Given the description of an element on the screen output the (x, y) to click on. 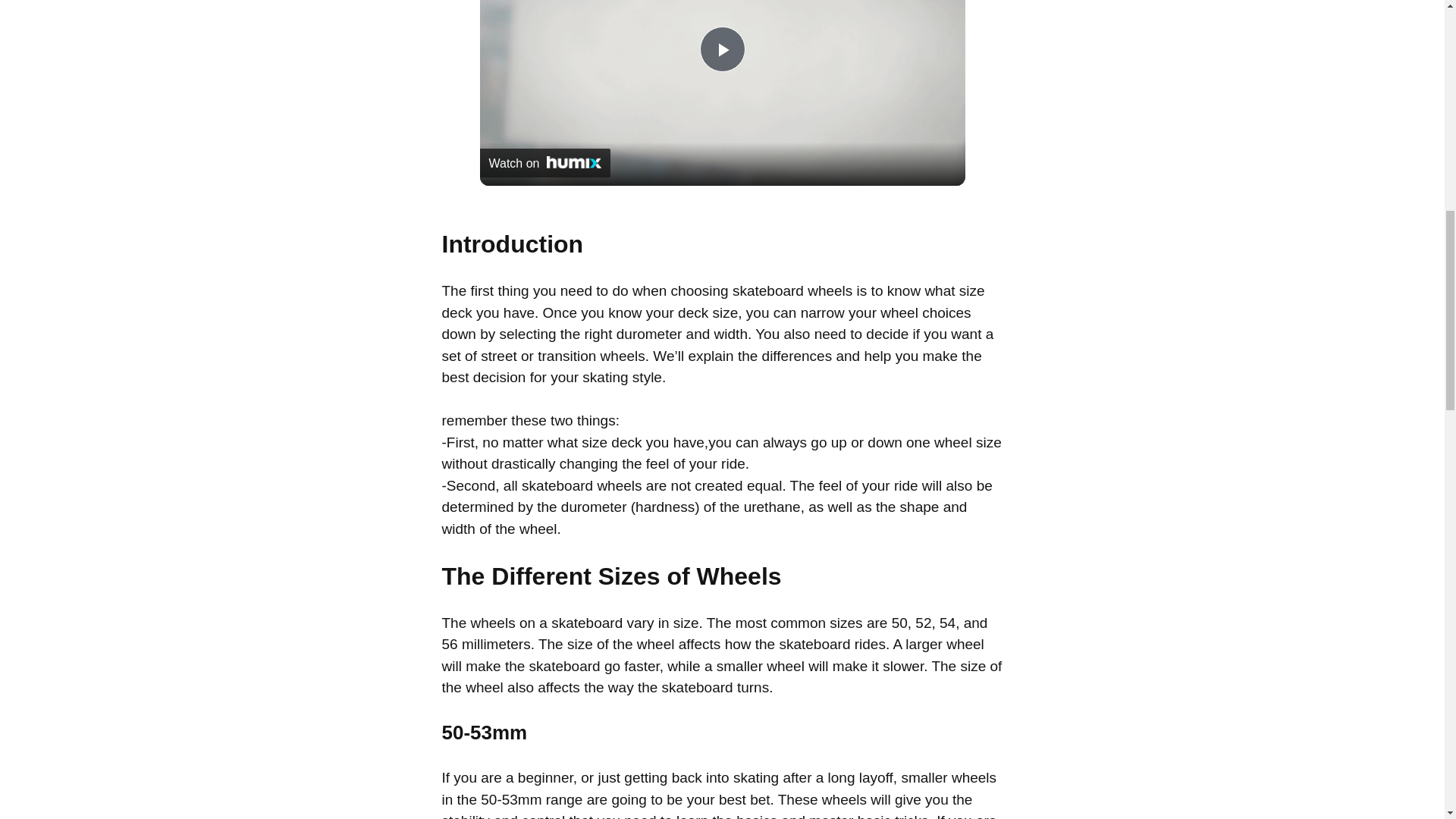
Play Video (721, 49)
Play Video (721, 49)
